Given the description of an element on the screen output the (x, y) to click on. 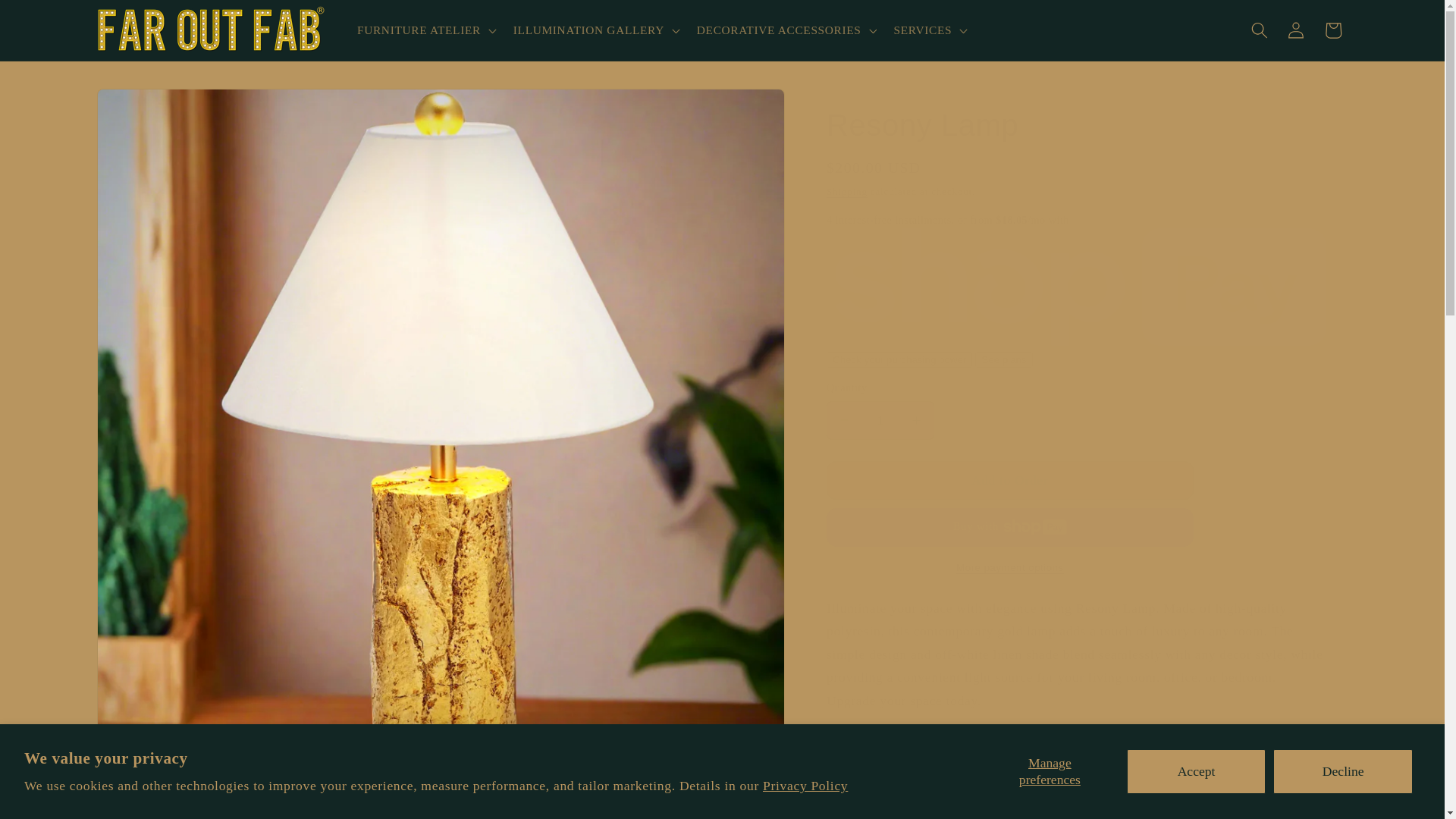
Privacy Policy (804, 785)
Skip to content (50, 19)
Decline (1342, 771)
Accept (1196, 771)
1 (880, 420)
Open media 3 in modal (614, 802)
Open media 2 in modal (266, 802)
Manage preferences (1049, 771)
